Given the description of an element on the screen output the (x, y) to click on. 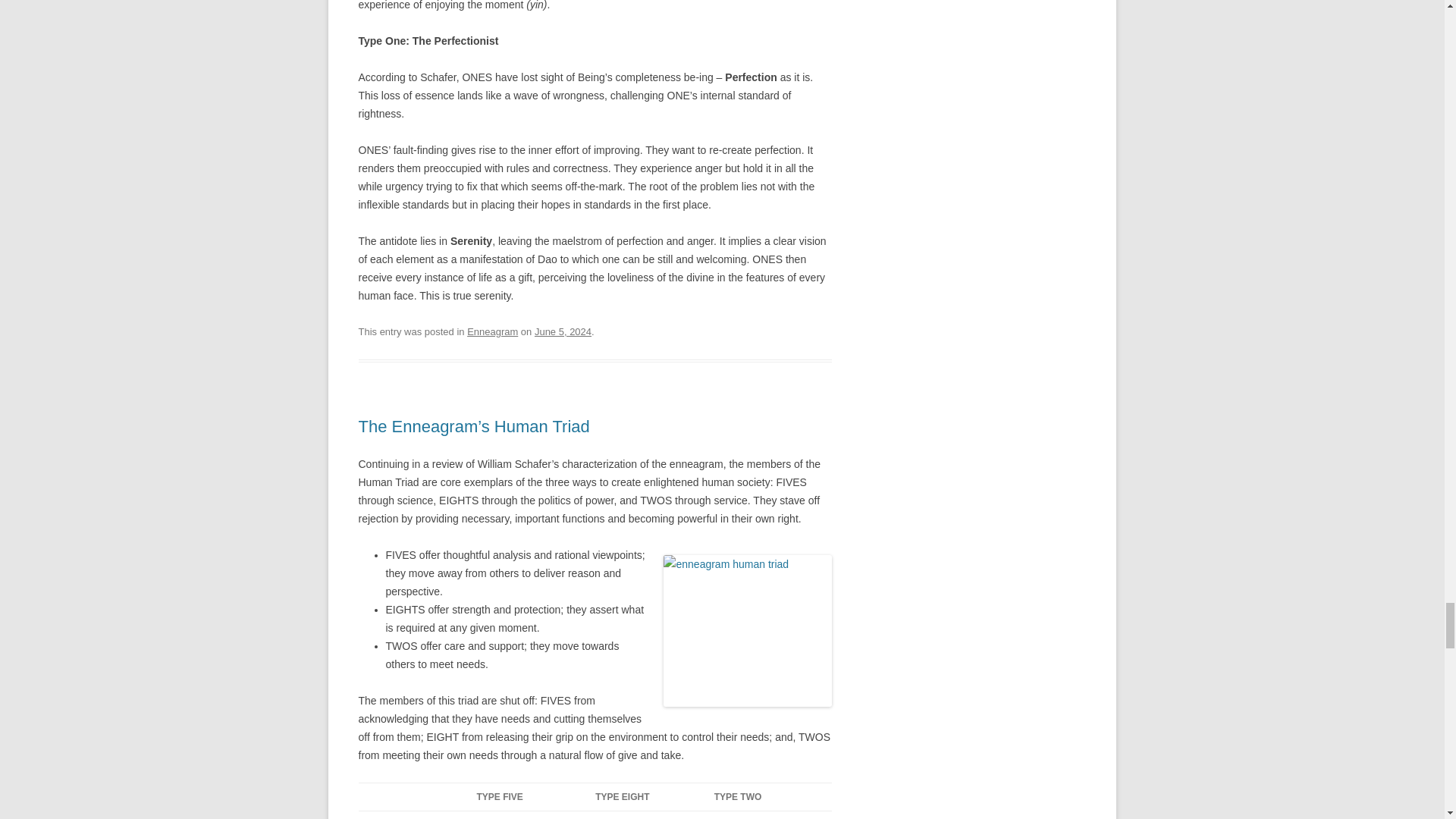
6:00 am (562, 331)
